Given the description of an element on the screen output the (x, y) to click on. 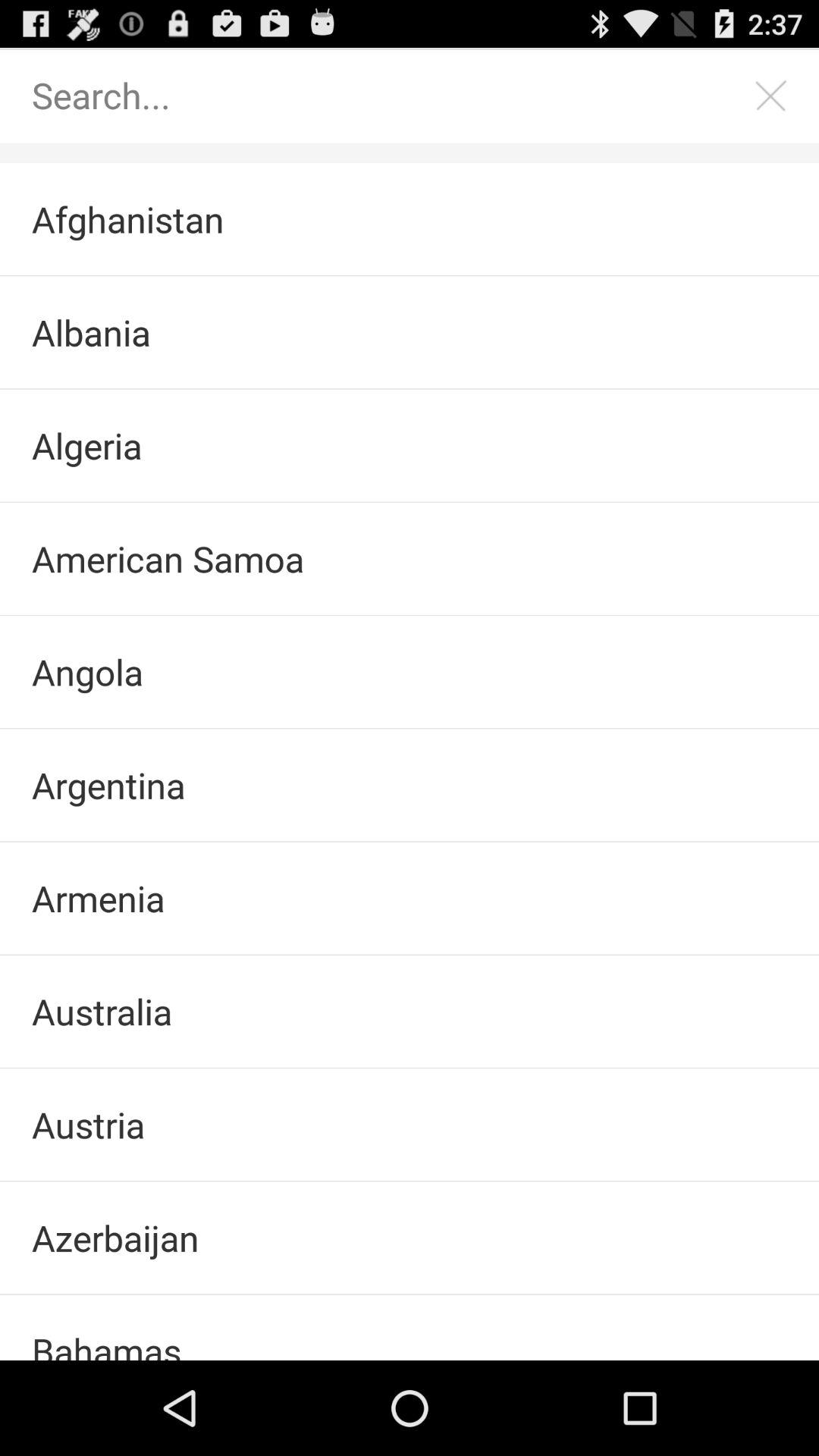
tap icon above australia checkbox (409, 898)
